Given the description of an element on the screen output the (x, y) to click on. 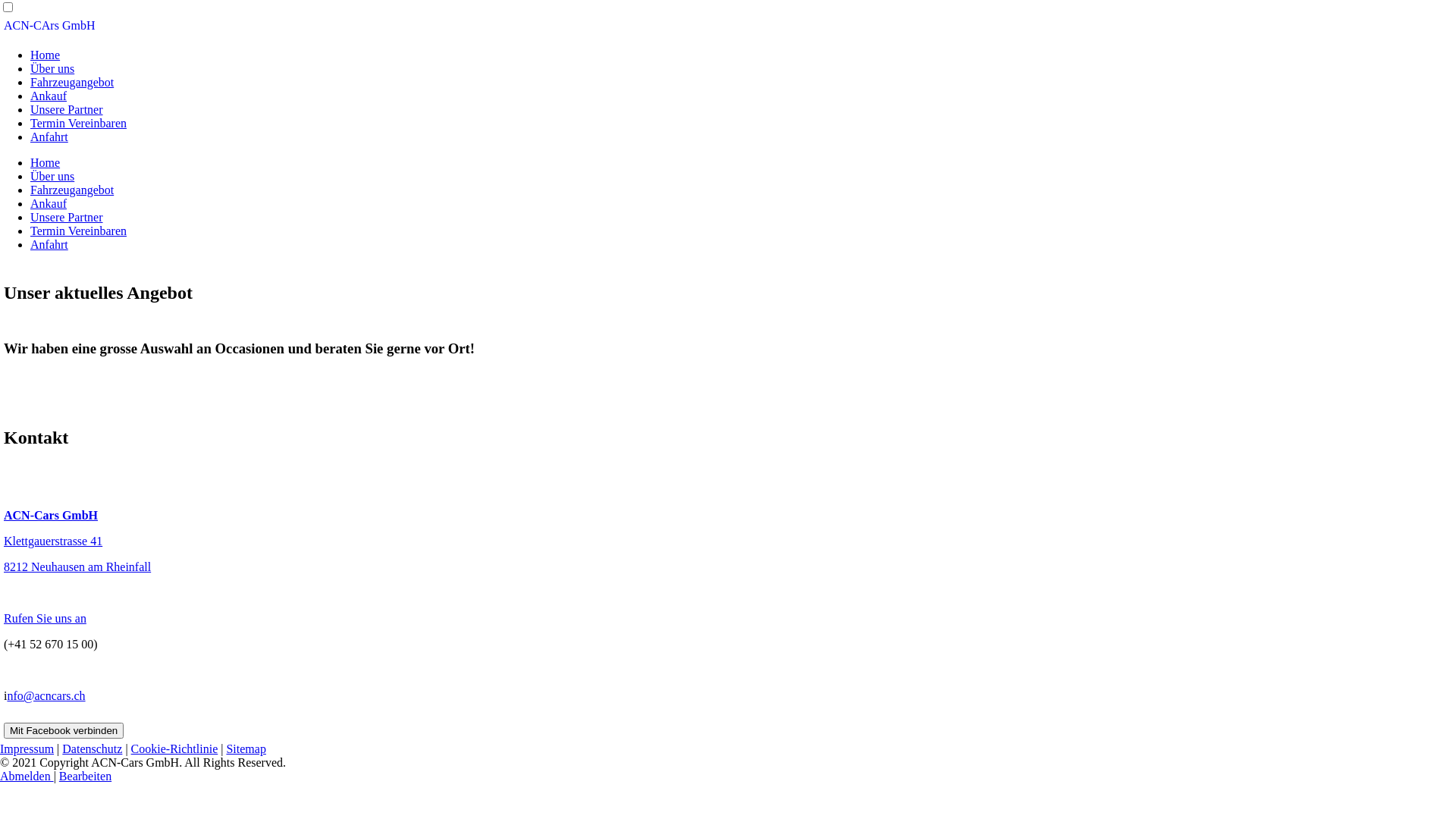
Ankauf Element type: text (48, 95)
Fahrzeugangebot Element type: text (71, 189)
Termin Vereinbaren Element type: text (78, 230)
Datenschutz Element type: text (92, 748)
Mit Facebook verbinden Element type: text (63, 730)
ACN-Cars GmbH Element type: text (50, 514)
Sitemap Element type: text (245, 748)
Home Element type: text (44, 54)
Home Element type: text (44, 162)
8212 Neuhausen am Rheinfall Element type: text (76, 566)
Rufen Sie uns an Element type: text (44, 617)
nfo@acncars.ch Element type: text (45, 695)
Bearbeiten Element type: text (85, 775)
Fahrzeugangebot Element type: text (71, 81)
Cookie-Richtlinie Element type: text (174, 748)
Unsere Partner Element type: text (66, 216)
Abmelden Element type: text (26, 775)
Termin Vereinbaren Element type: text (78, 122)
Impressum Element type: text (26, 748)
Anfahrt Element type: text (49, 136)
Klettgauerstrasse 41 Element type: text (52, 540)
ACN-CArs GmbH Element type: text (48, 24)
Anfahrt Element type: text (49, 244)
Ankauf Element type: text (48, 203)
Unsere Partner Element type: text (66, 109)
